Given the description of an element on the screen output the (x, y) to click on. 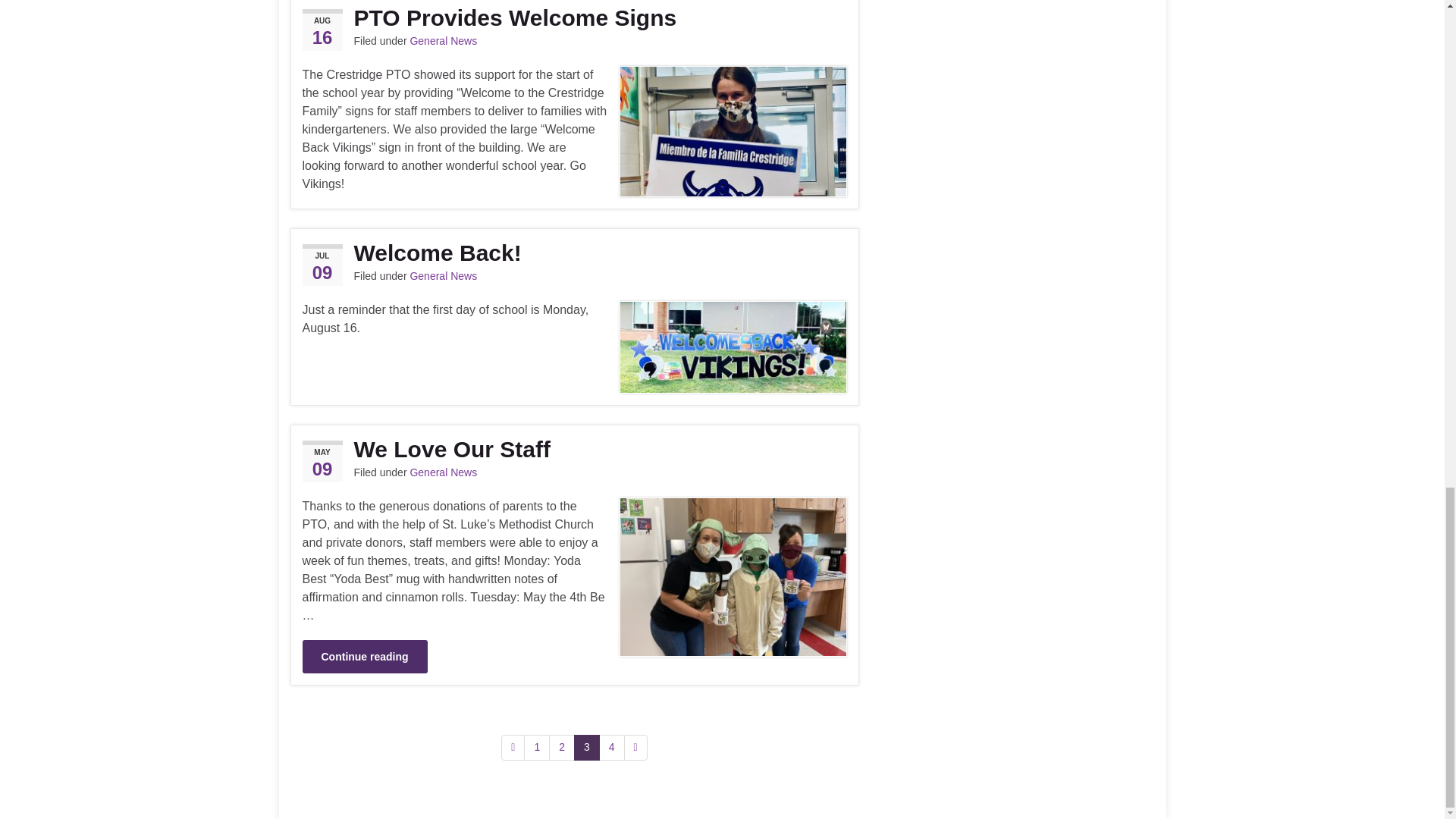
General News (443, 275)
General News (443, 472)
We Love Our Staff (573, 449)
General News (443, 40)
Permalink to PTO Provides Welcome Signs (573, 17)
2 (561, 747)
Welcome Back! (573, 252)
Permalink to Welcome Back! (573, 252)
Permalink to We Love Our Staff (573, 449)
PTO Provides Welcome Signs (573, 17)
